Given the description of an element on the screen output the (x, y) to click on. 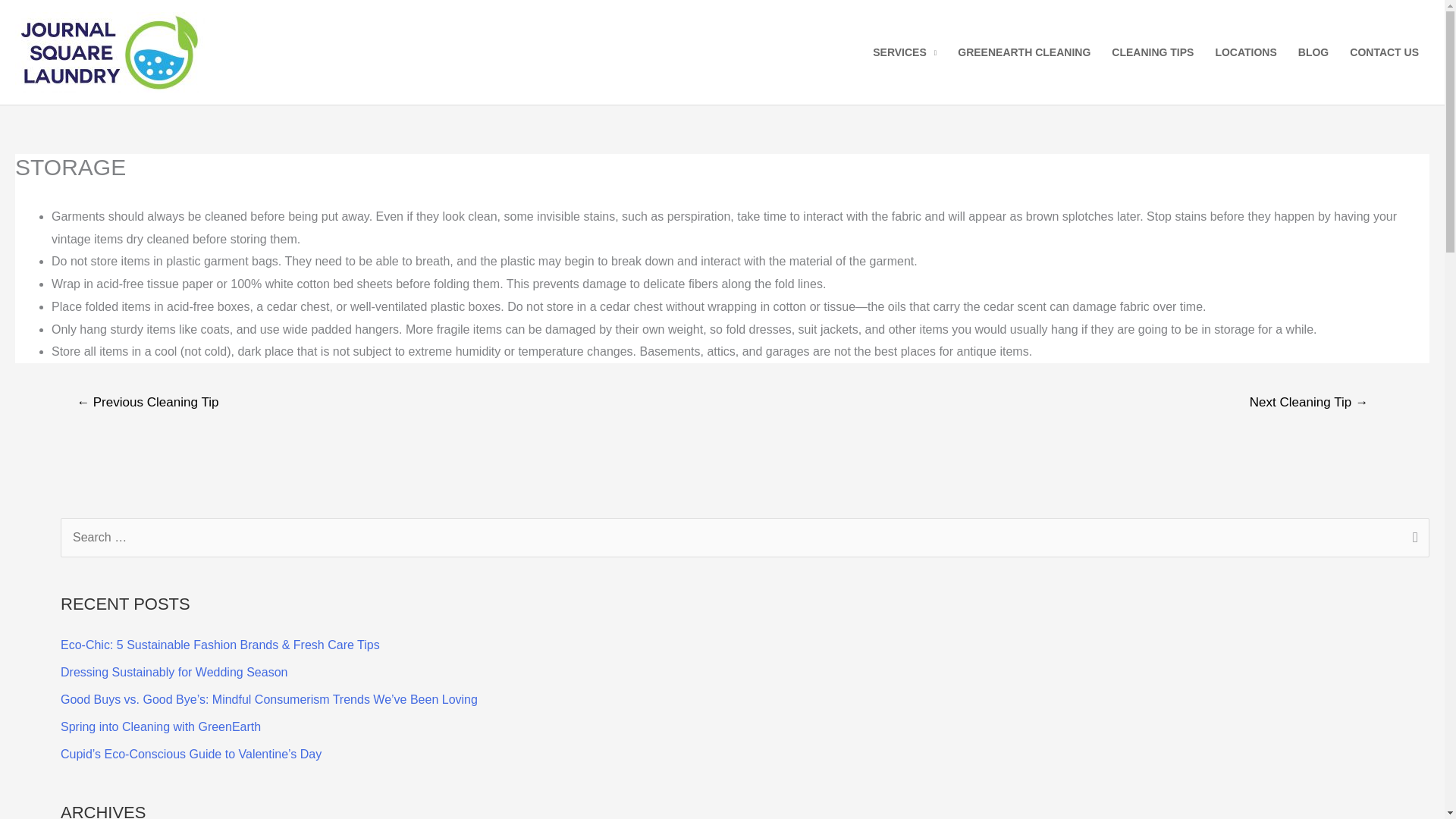
CONTACT US (1384, 52)
Spring into Cleaning with GreenEarth (160, 726)
LOCATIONS (1245, 52)
SERVICES (904, 52)
Dressing Sustainably for Wedding Season (173, 671)
GREENEARTH CLEANING (1023, 52)
CLEANING TIPS (1152, 52)
